Given the description of an element on the screen output the (x, y) to click on. 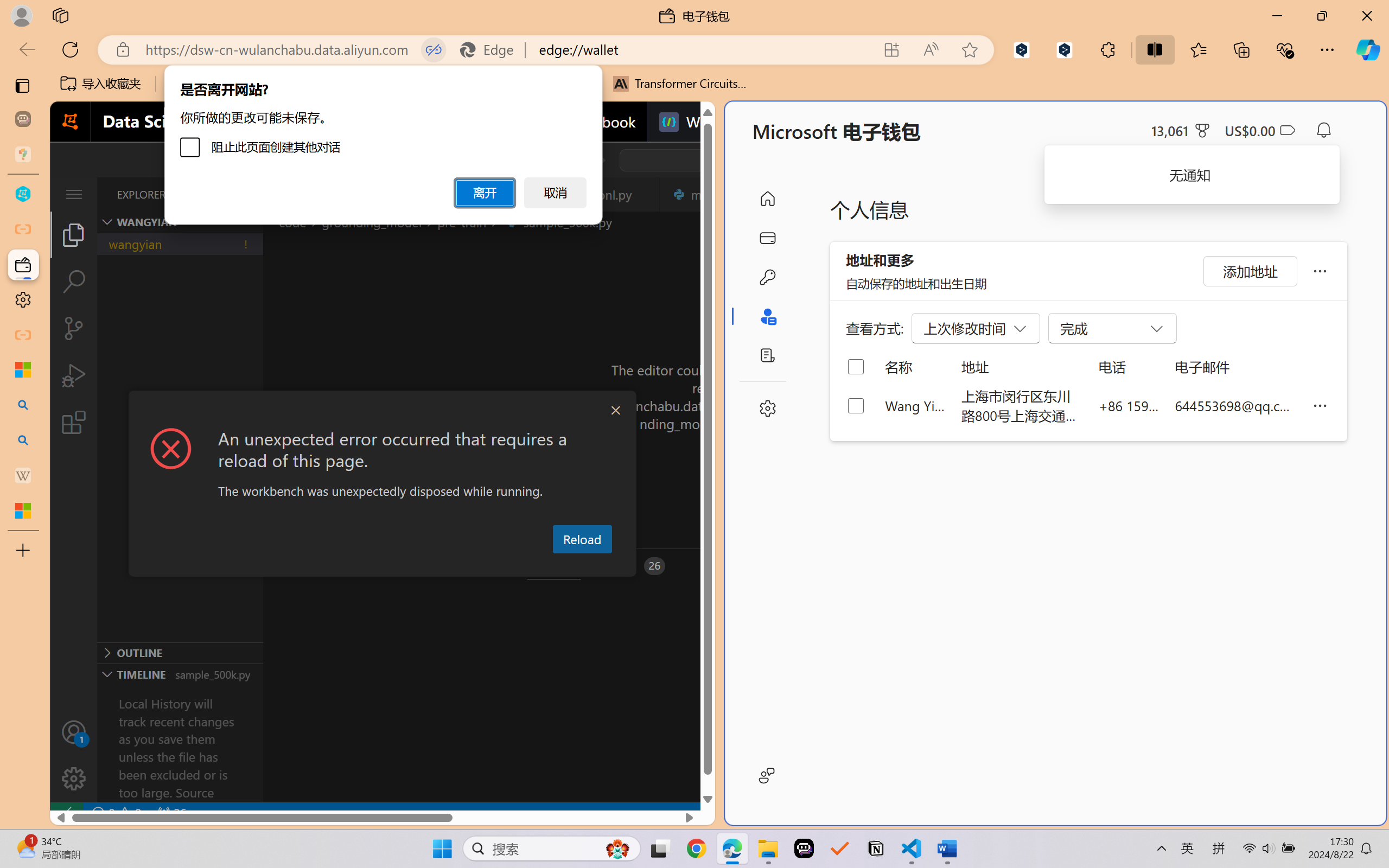
Output (Ctrl+Shift+U) (377, 565)
Ports - 26 forwarded ports (632, 565)
